Given the description of an element on the screen output the (x, y) to click on. 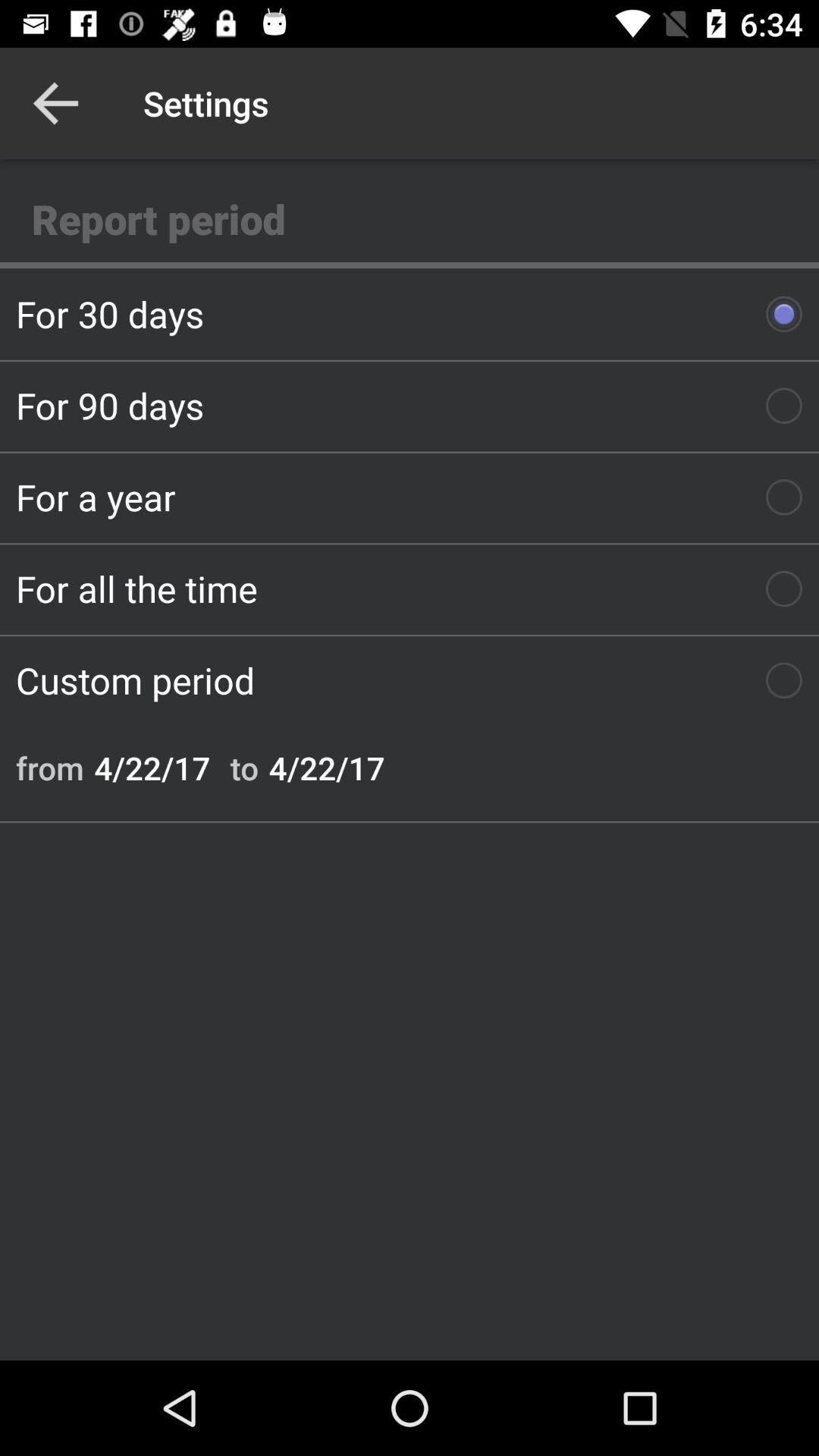
turn on the icon below the custom period item (49, 767)
